Given the description of an element on the screen output the (x, y) to click on. 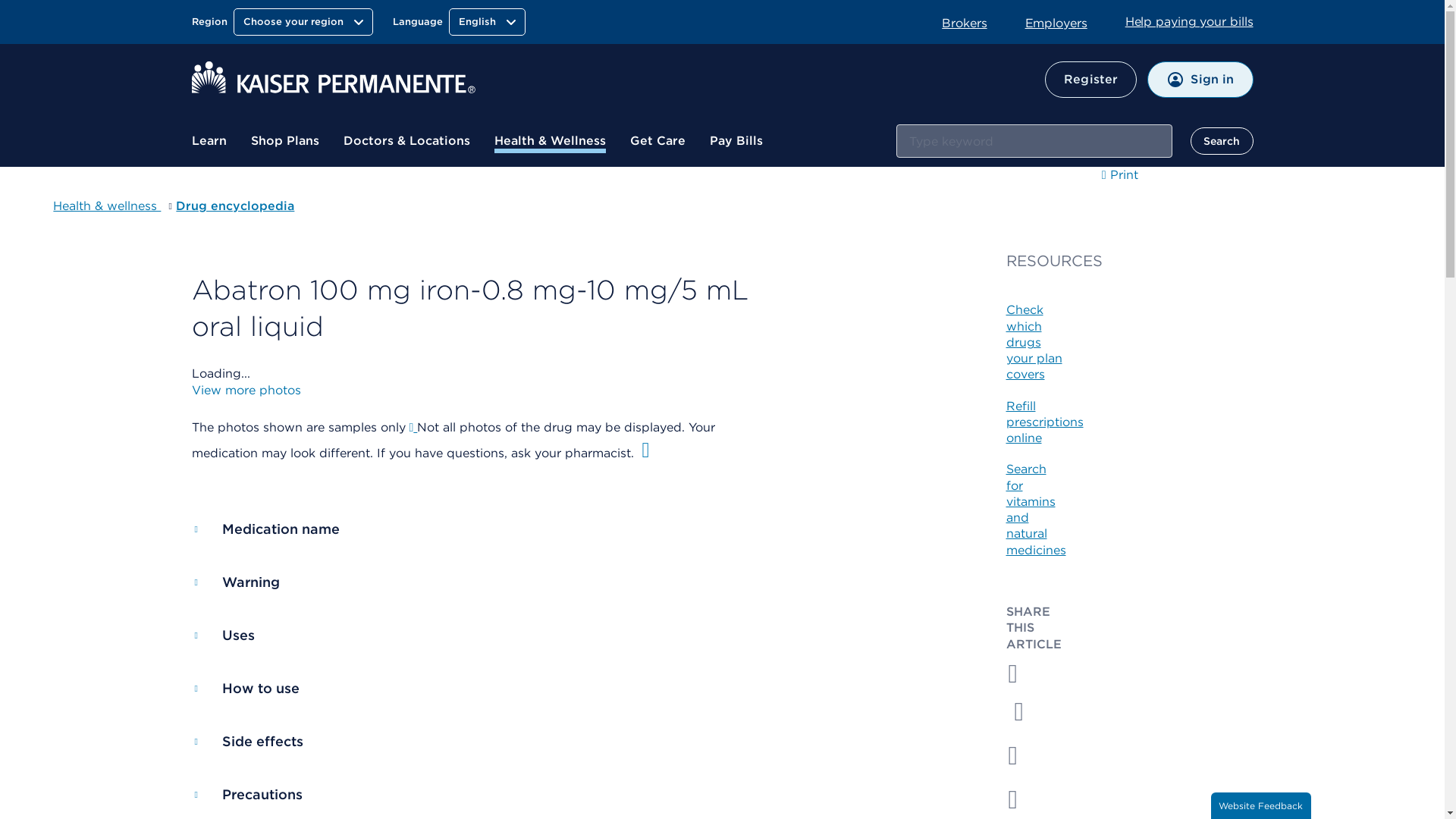
English (486, 22)
Shop Plans (284, 140)
opens dialog, Opens a Dialog (244, 390)
Opens in a new window, external (1020, 798)
Get Care (656, 140)
Pay Bills (736, 140)
Opens in a new window, external (1020, 711)
Opens in a new window, external (1065, 22)
Register (1091, 79)
Sign in (1199, 79)
